Given the description of an element on the screen output the (x, y) to click on. 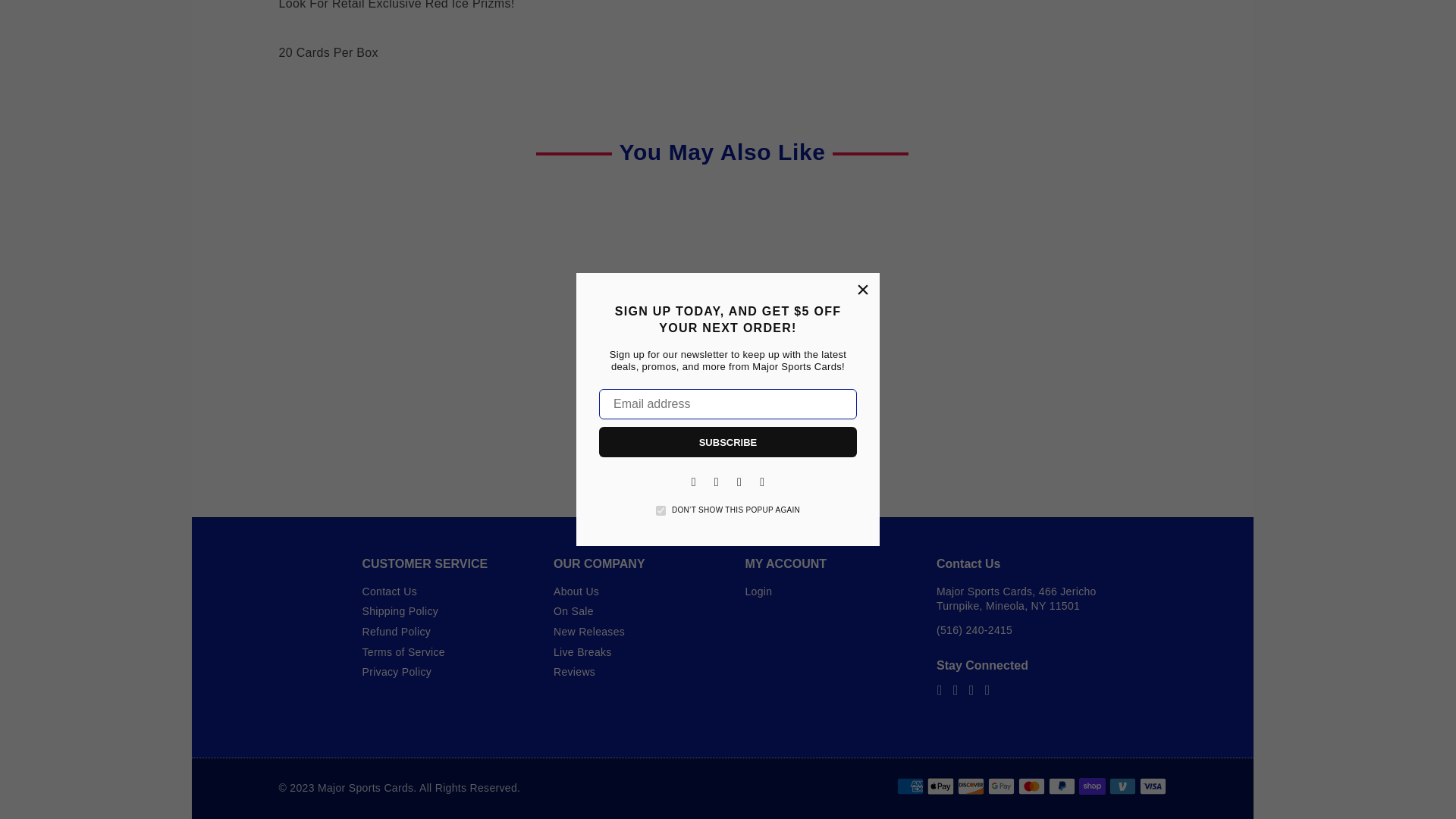
Apple Pay (939, 786)
Discover (970, 786)
Google Pay (1000, 786)
American Express (909, 786)
Mastercard (1030, 786)
